Given the description of an element on the screen output the (x, y) to click on. 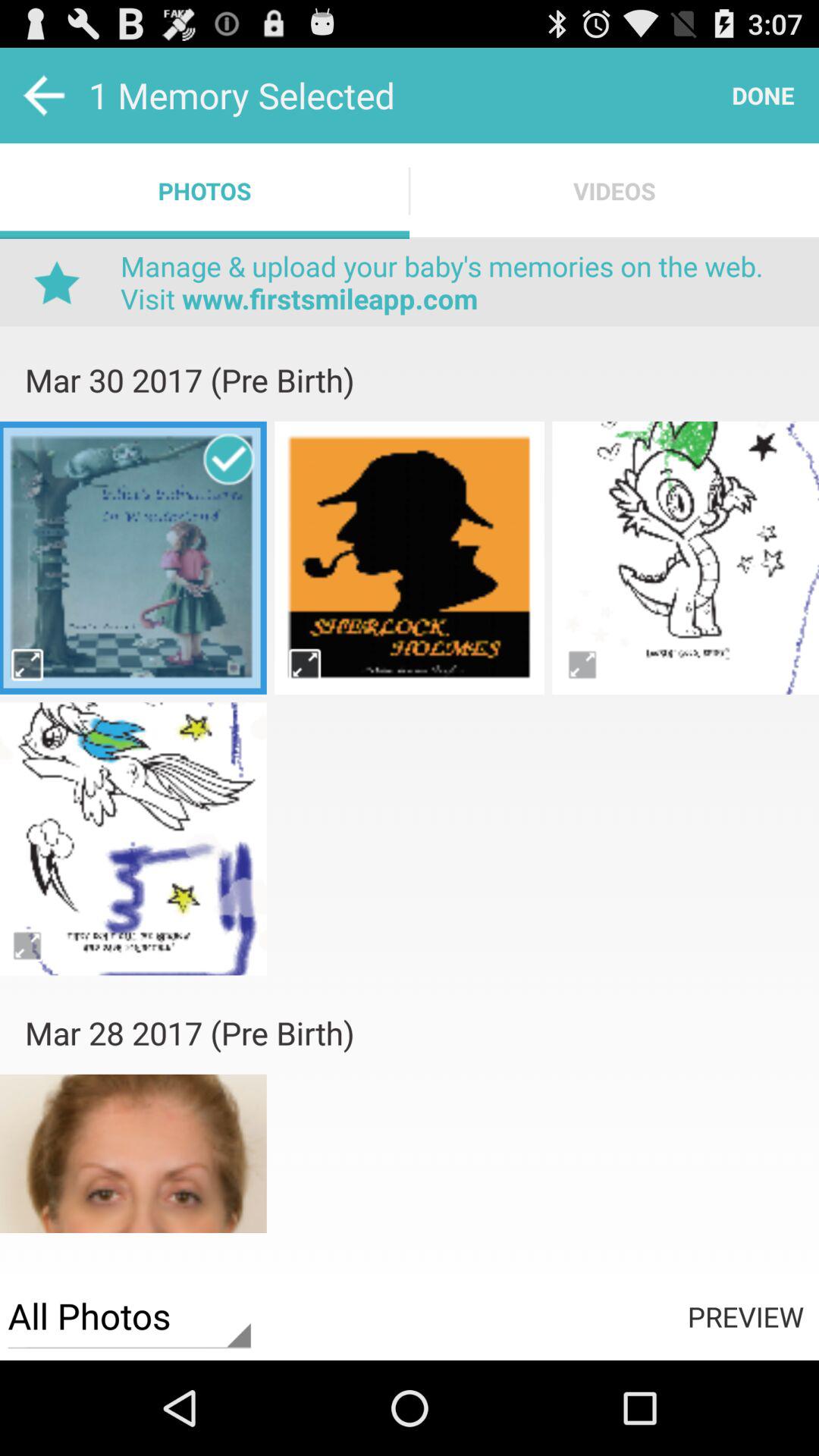
click on the image (133, 557)
